Given the description of an element on the screen output the (x, y) to click on. 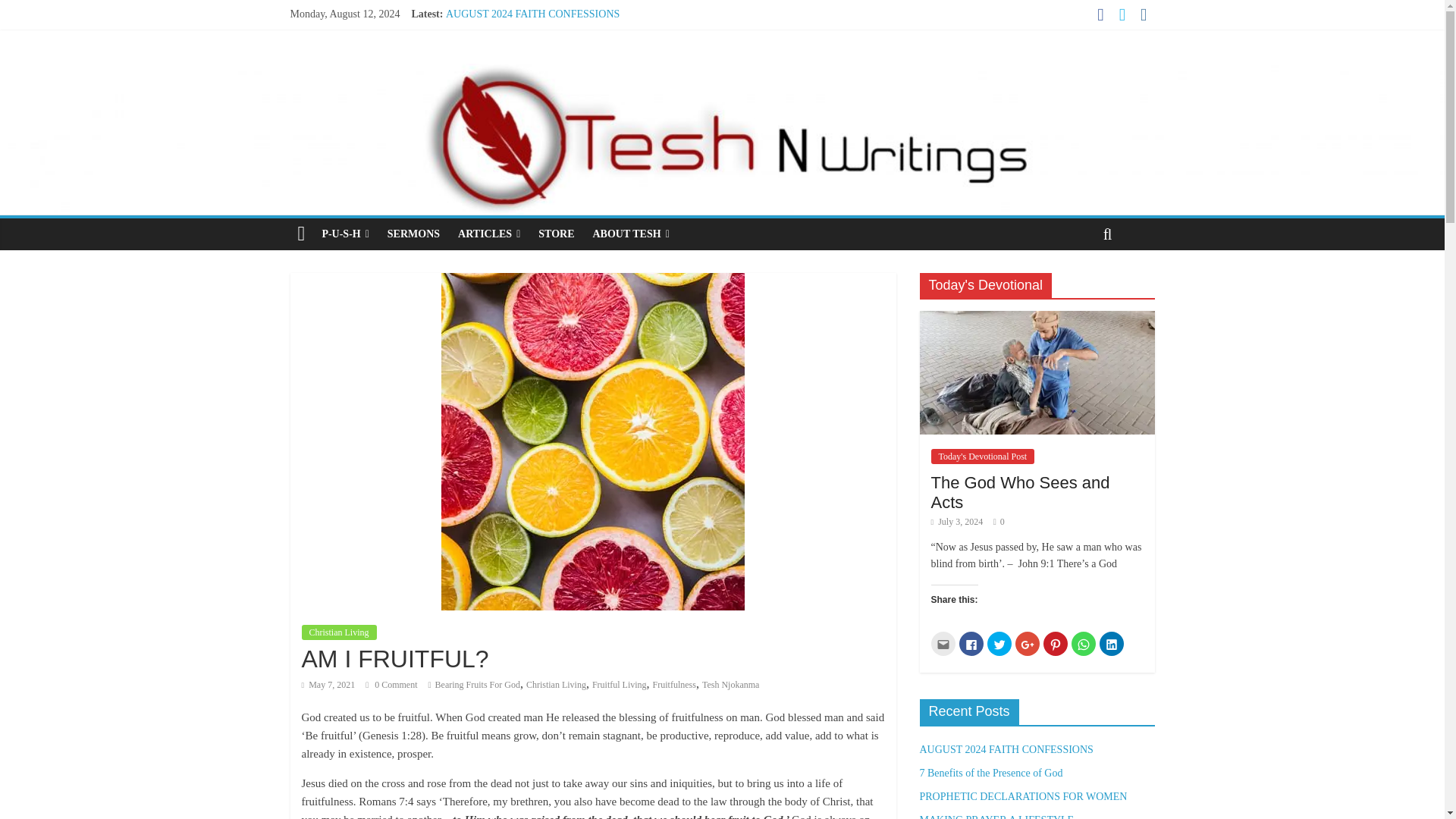
MAKING PRAYER A LIFESTYLE (522, 64)
P-U-S-H (345, 234)
ABOUT TESH (630, 234)
ARTICLES (488, 234)
AUGUST 2024 FAITH CONFESSIONS (532, 13)
Christian Living (339, 631)
7 Benefits of the Presence of God (517, 30)
STORE (556, 234)
7 Benefits of the Presence of God (517, 30)
AUGUST 2024 FAITH CONFESSIONS (532, 13)
